Given the description of an element on the screen output the (x, y) to click on. 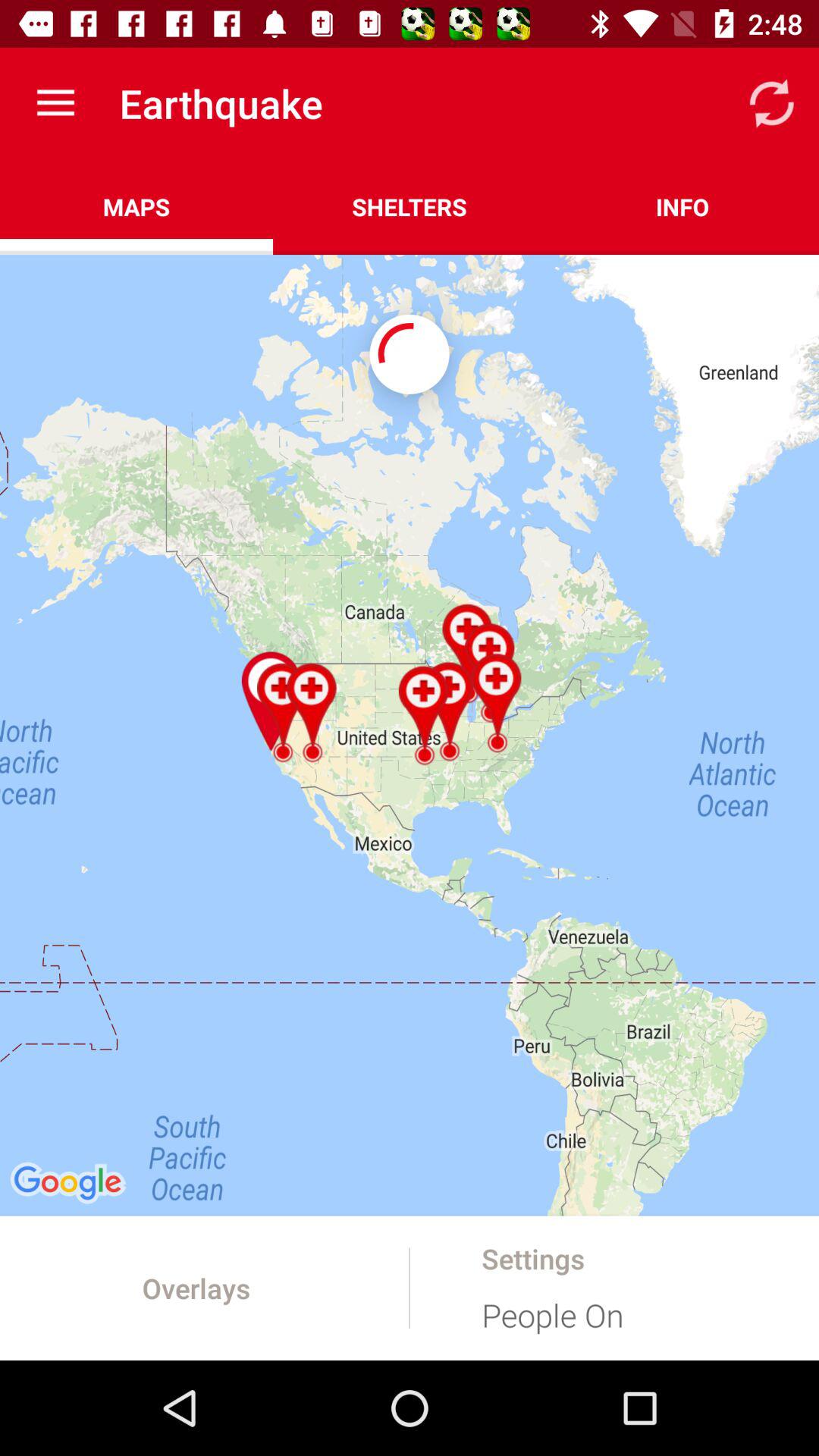
choose app above maps icon (55, 103)
